Given the description of an element on the screen output the (x, y) to click on. 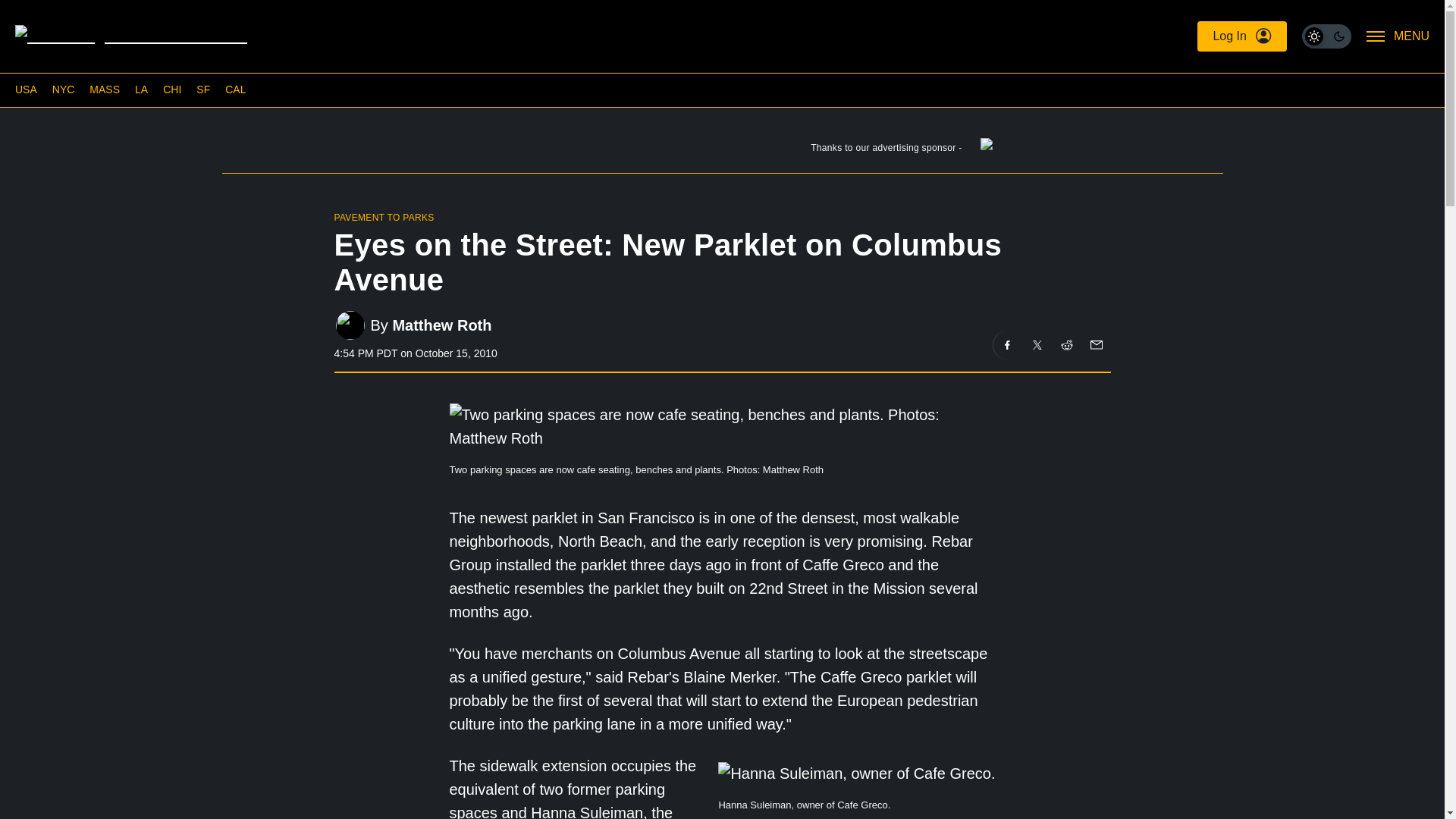
CHI (171, 89)
NYC (63, 89)
PAVEMENT TO PARKS (383, 217)
USA (25, 89)
Share on Reddit (1066, 344)
Thanks to our advertising sponsor - (721, 150)
Log In (1240, 36)
Share on Email (1095, 344)
CAL (235, 89)
MASS (103, 89)
